Given the description of an element on the screen output the (x, y) to click on. 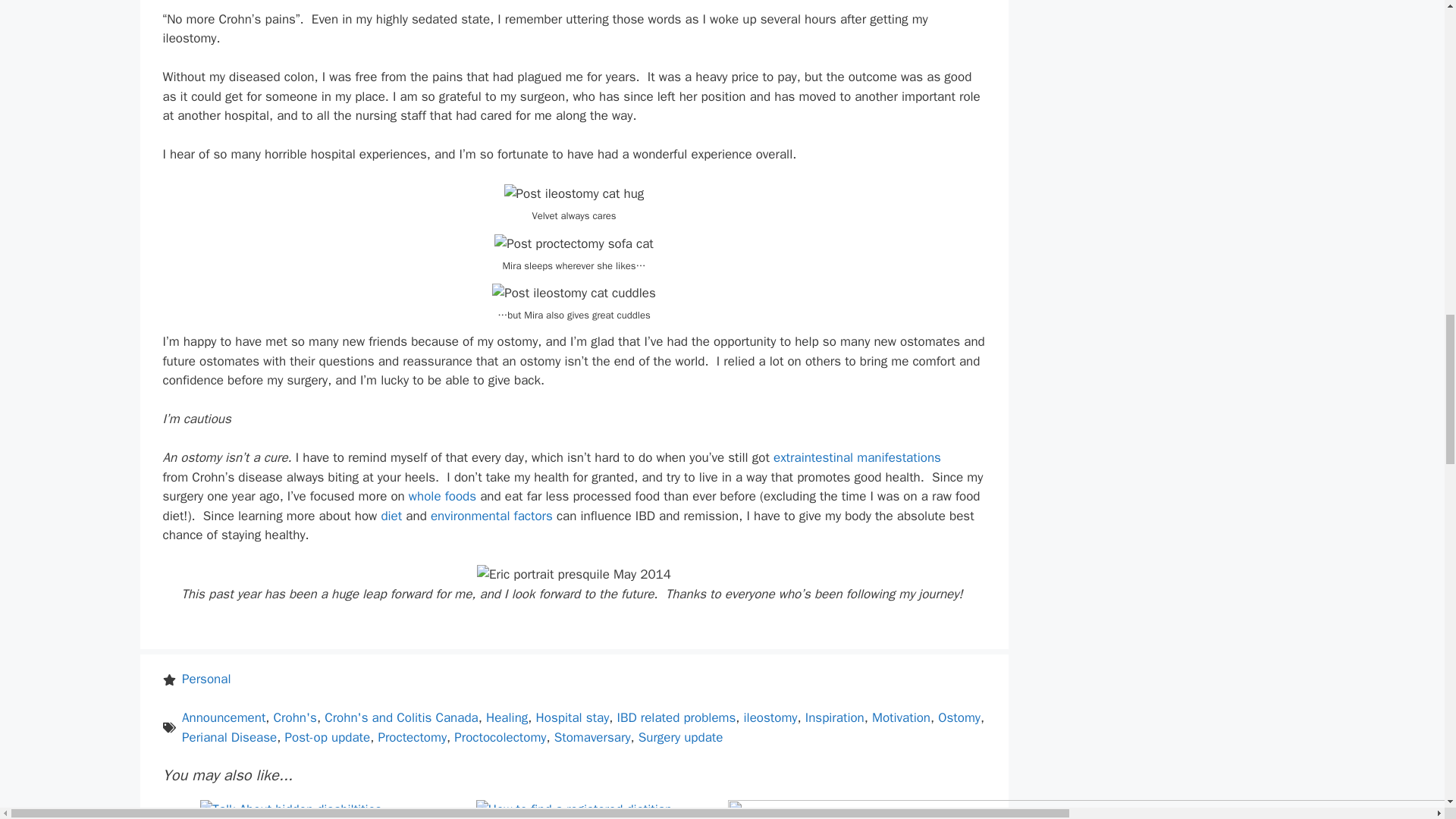
Talk About Hidden Disabilities (290, 809)
Food Gallery (442, 496)
